Given the description of an element on the screen output the (x, y) to click on. 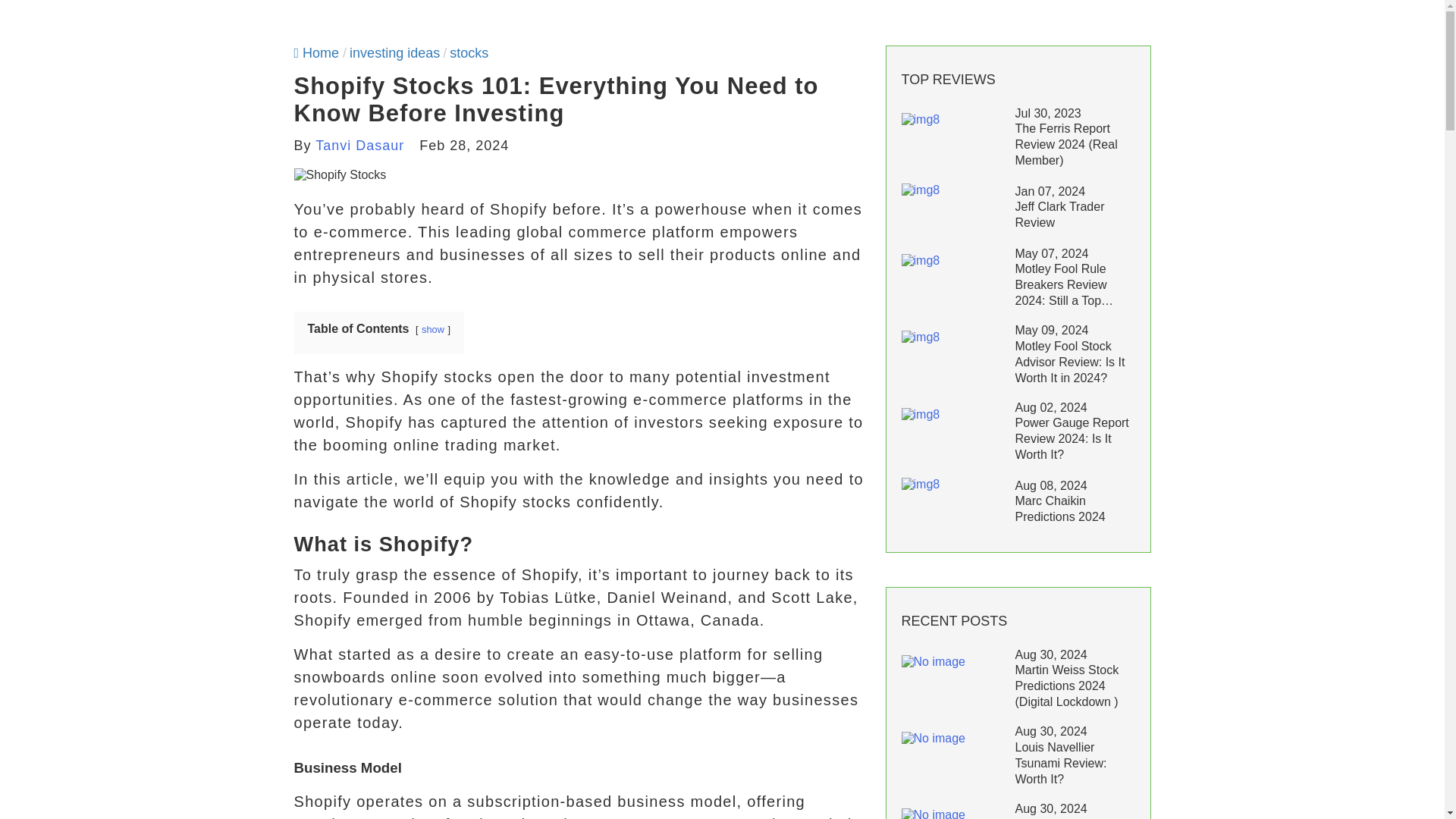
Home (316, 52)
stocks (468, 52)
Tanvi Dasaur (359, 145)
Category Name (394, 52)
stocks (468, 52)
show (433, 328)
investing ideas (394, 52)
